Given the description of an element on the screen output the (x, y) to click on. 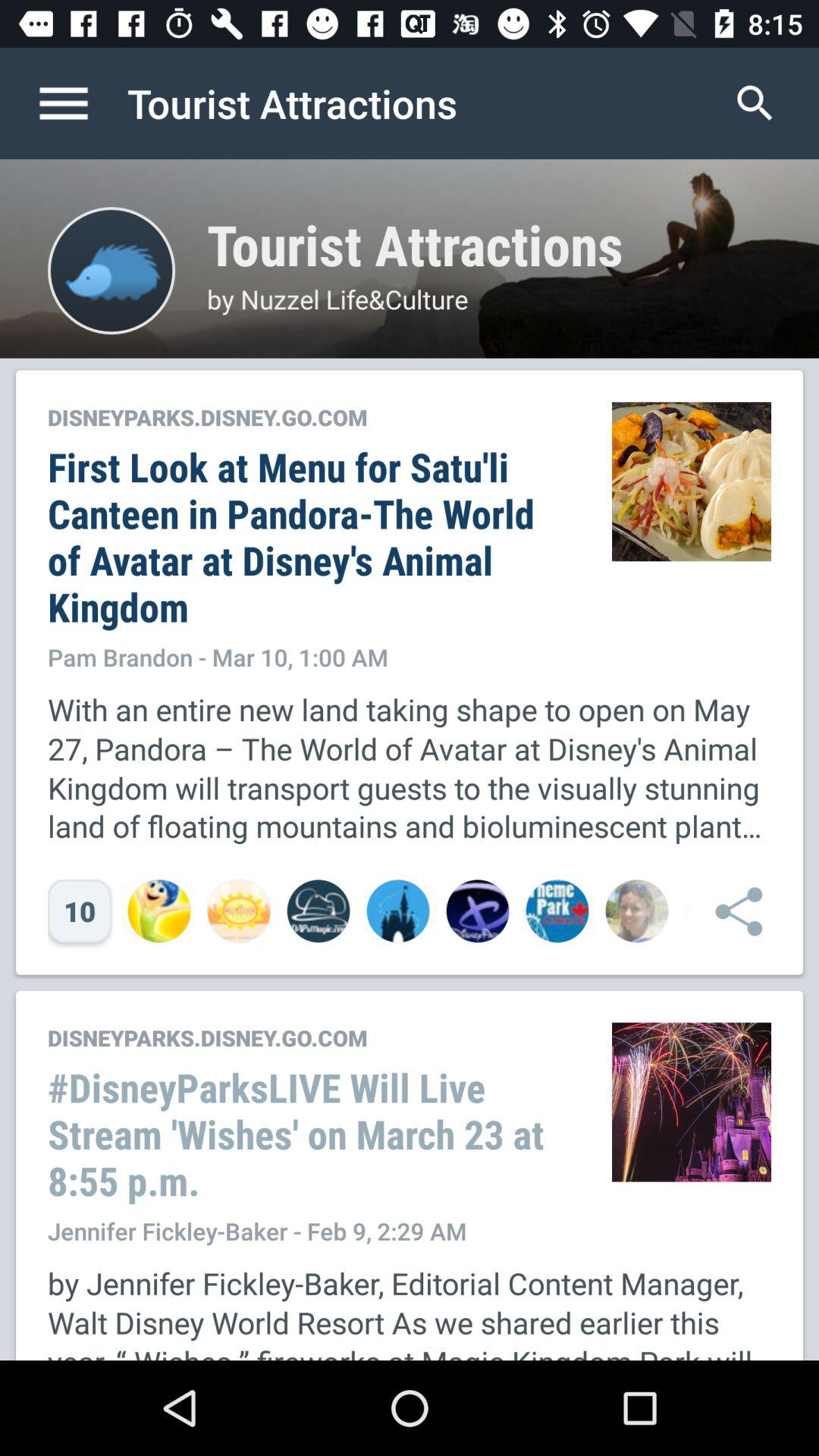
share the article (731, 910)
